Given the description of an element on the screen output the (x, y) to click on. 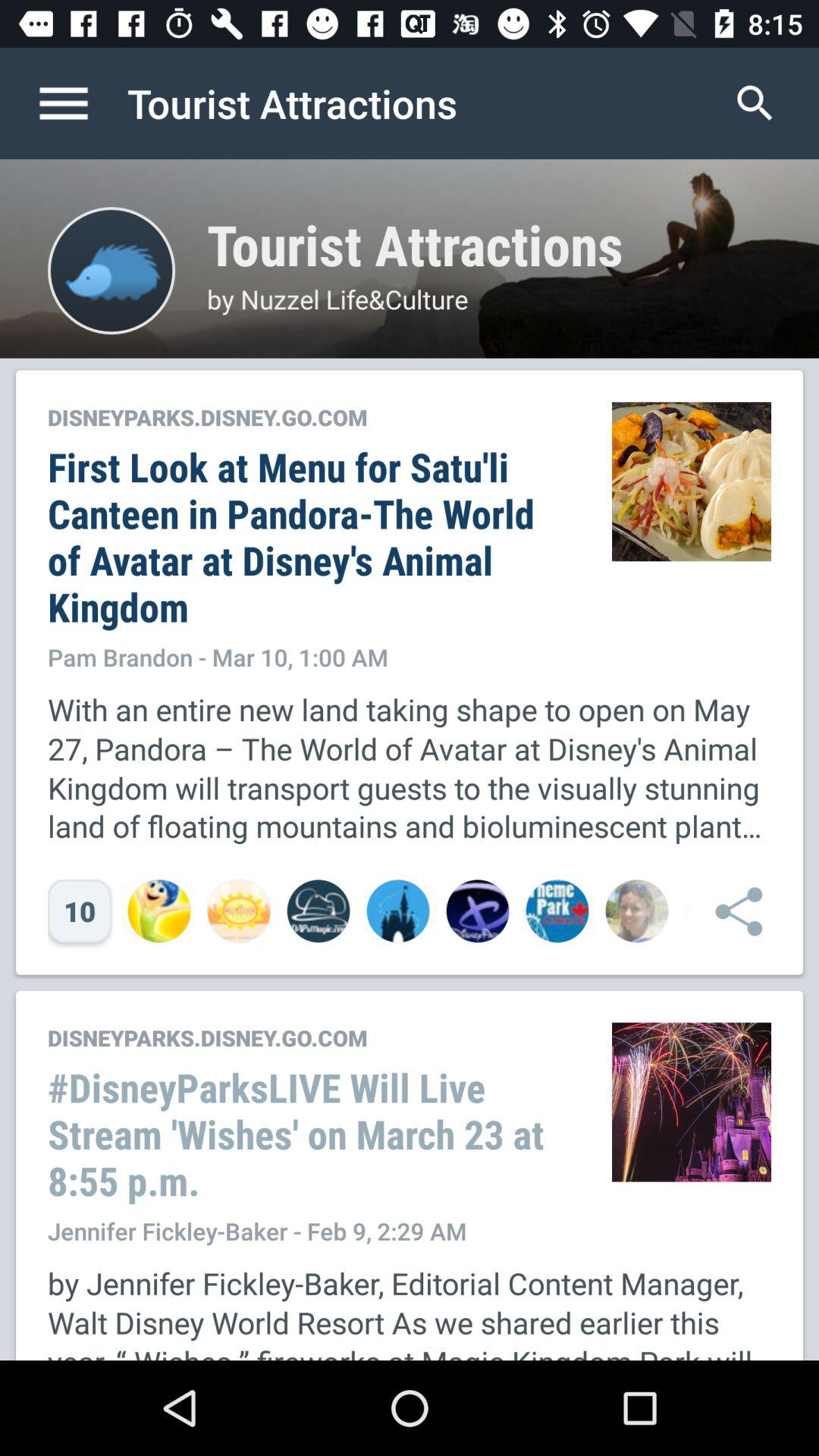
share the article (731, 910)
